Given the description of an element on the screen output the (x, y) to click on. 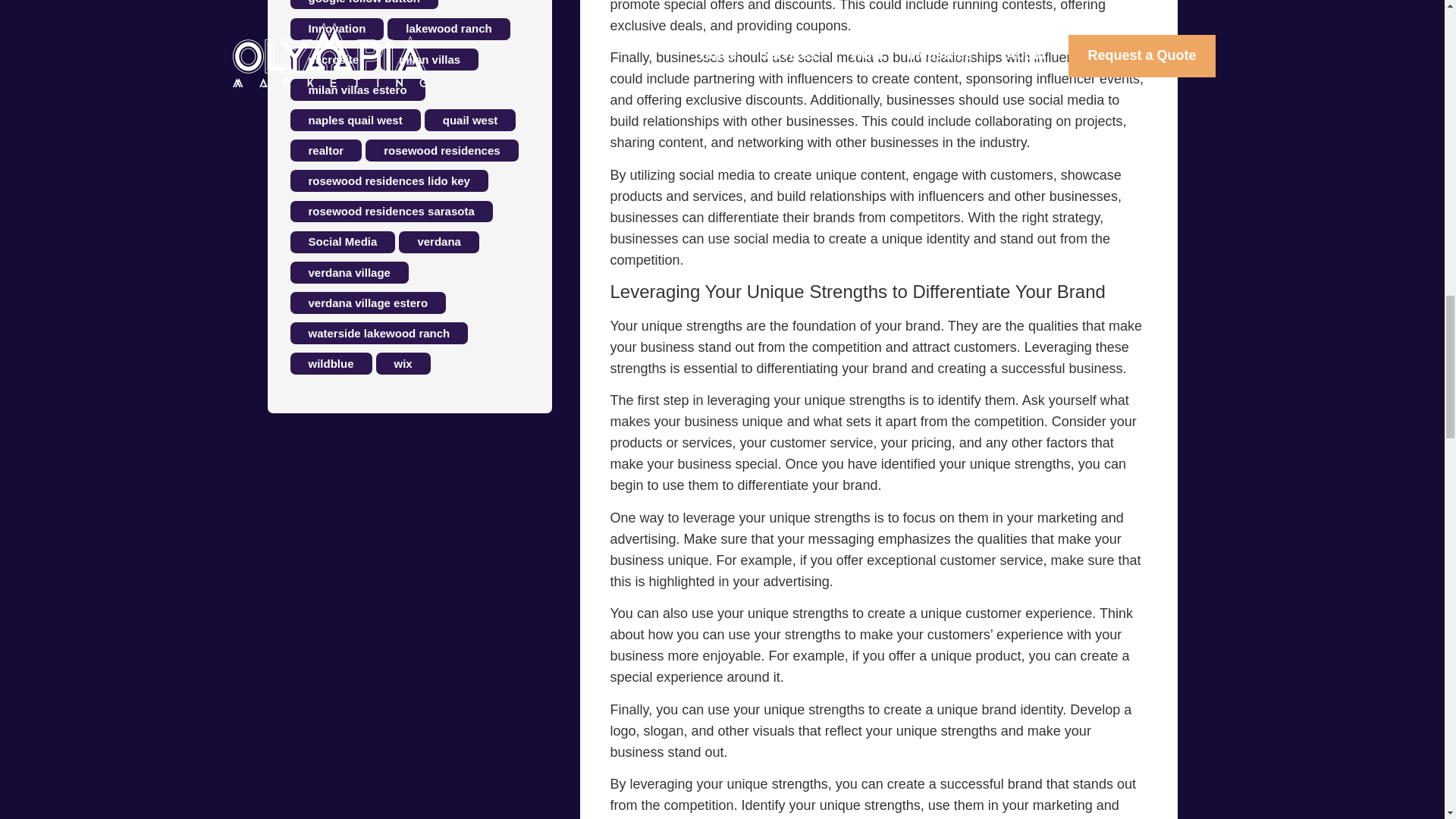
google follow button (363, 4)
